Given the description of an element on the screen output the (x, y) to click on. 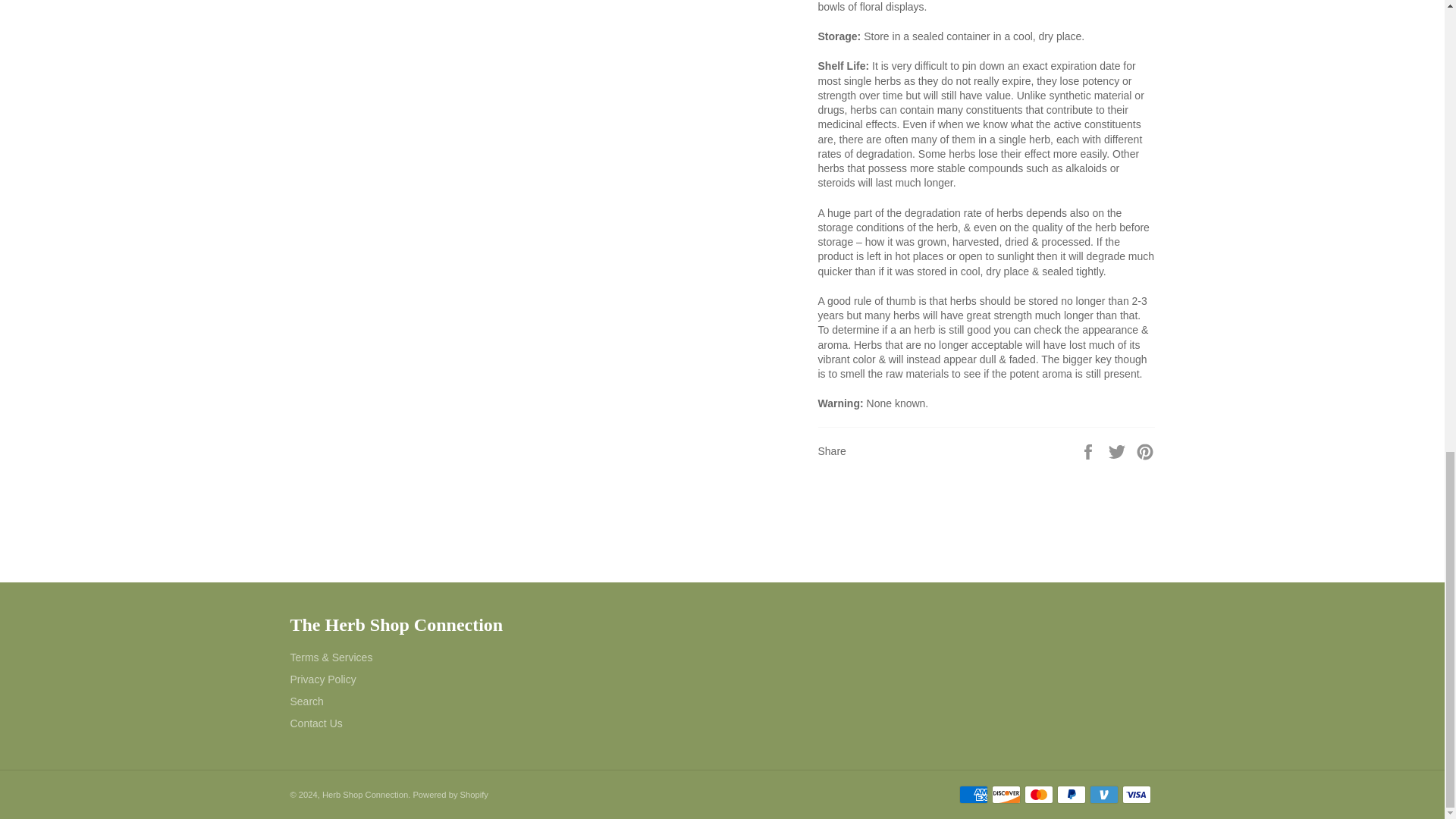
Share on Facebook (1089, 450)
Pin on Pinterest (1144, 450)
Tweet on Twitter (1118, 450)
